Given the description of an element on the screen output the (x, y) to click on. 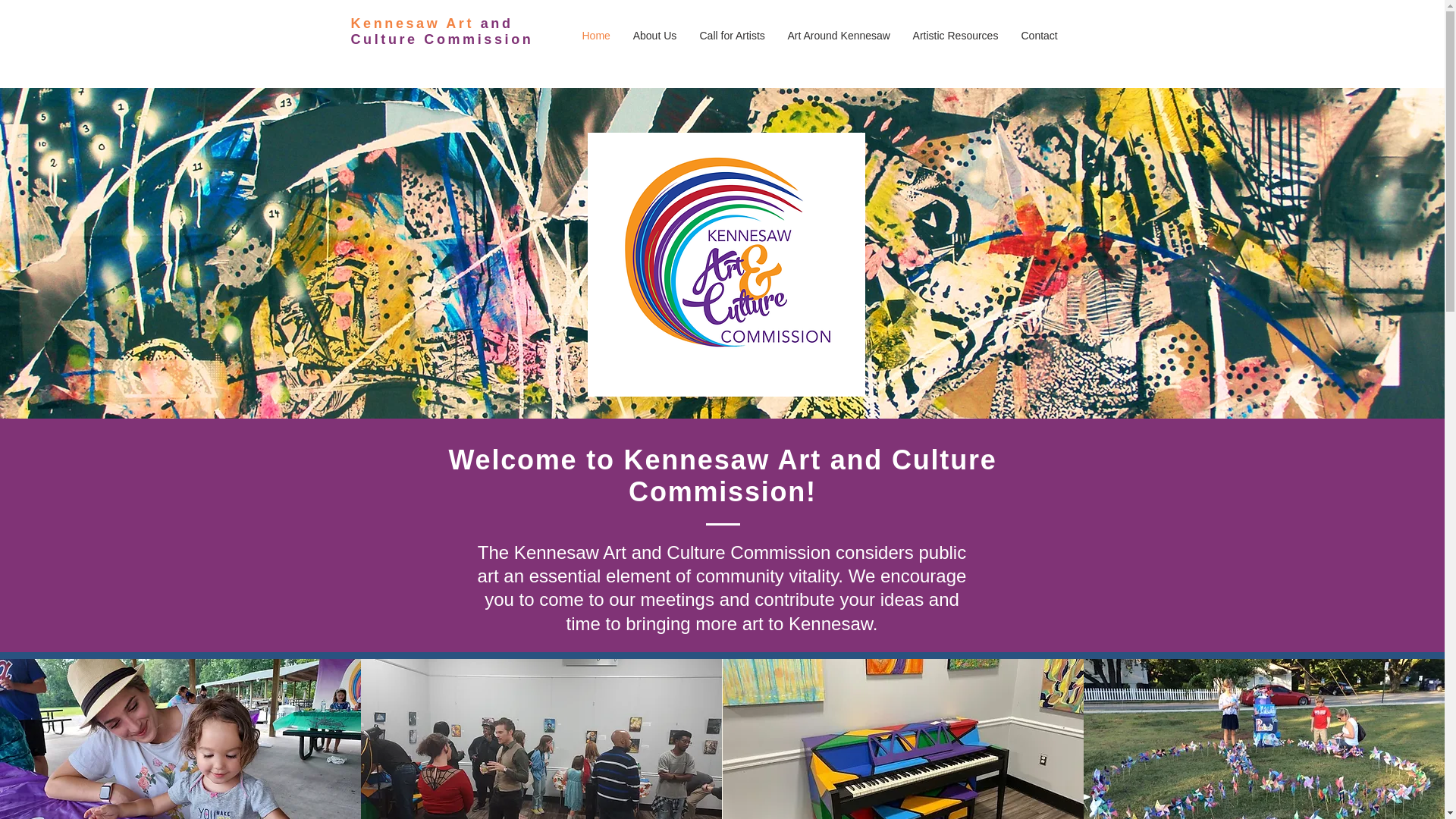
Contact (1039, 35)
About Us (654, 35)
Home (595, 35)
Kennesaw Art and Culture Commission (441, 30)
Call for Artists (732, 35)
Artistic Resources (955, 35)
